Given the description of an element on the screen output the (x, y) to click on. 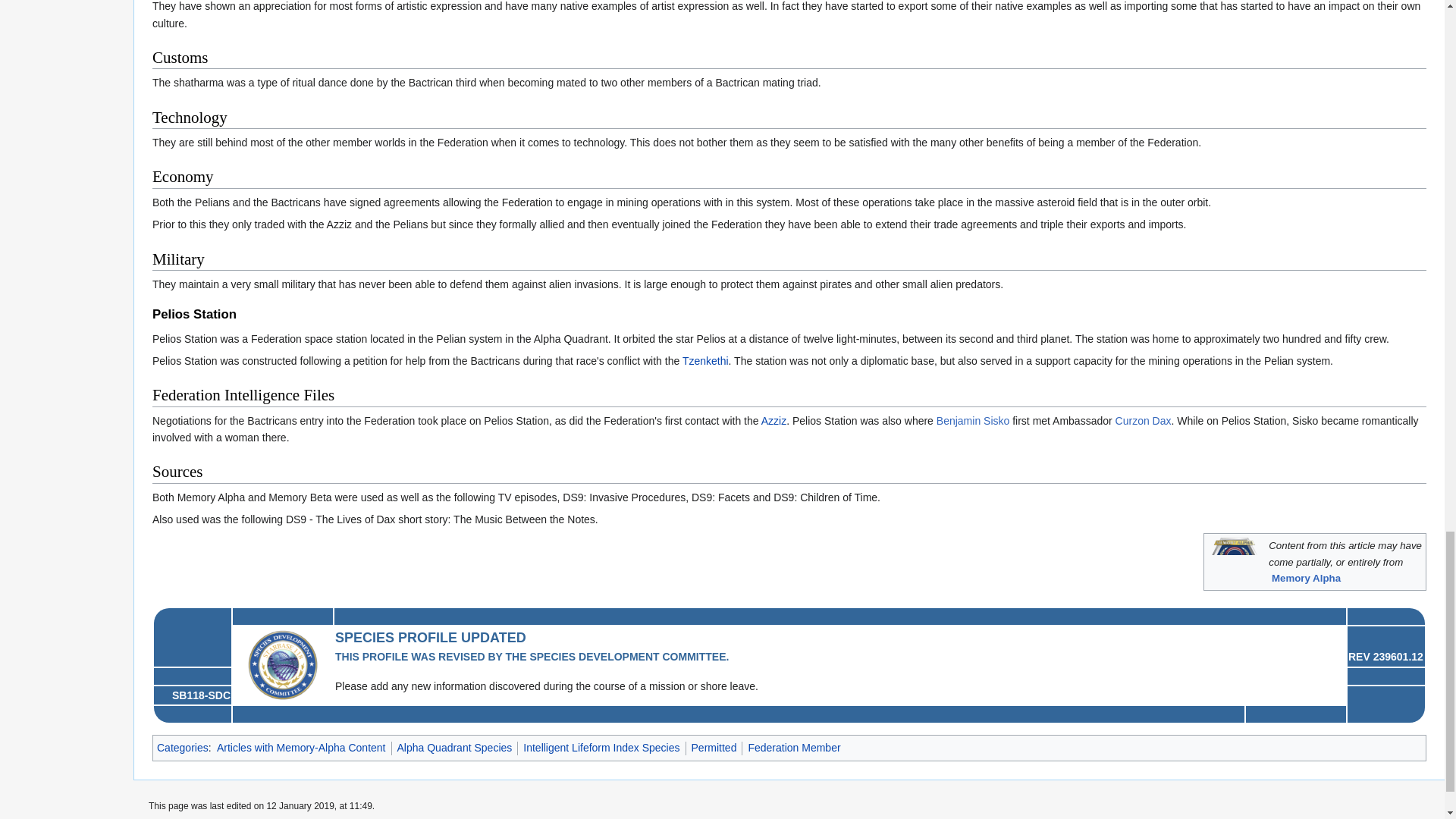
Special:Categories (182, 747)
Curzon Dax (1143, 420)
Species Development Committee (282, 664)
ma:Benjamin Sisko (973, 420)
Tzenkethi (705, 360)
Memory Alpha (1305, 577)
Azziz (773, 420)
ma:Main Page (1305, 577)
Benjamin Sisko (973, 420)
Azziz (773, 420)
ma:Curzon Dax (1143, 420)
Tzenkethi (705, 360)
